Given the description of an element on the screen output the (x, y) to click on. 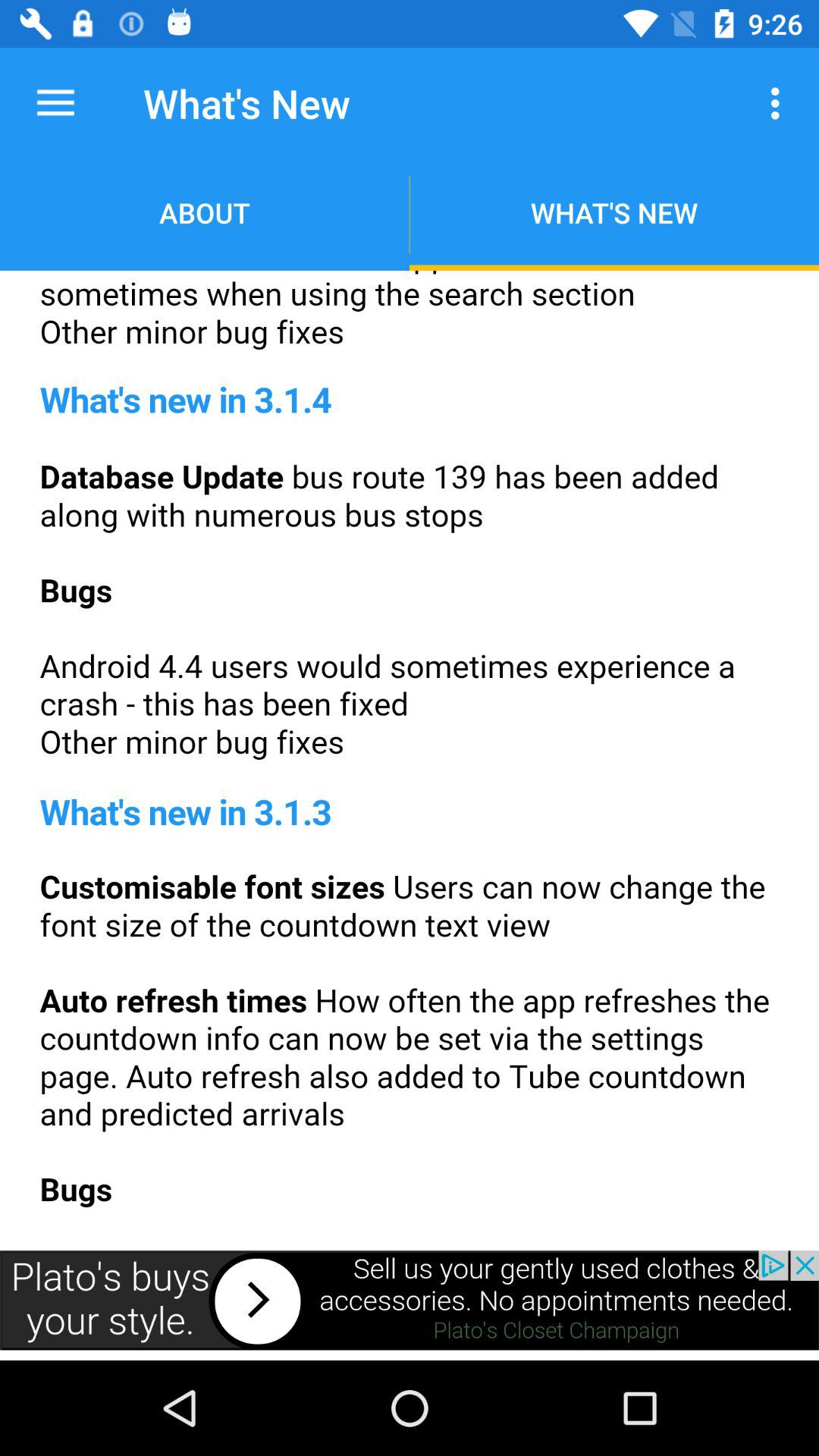
scroll through text (409, 755)
